Given the description of an element on the screen output the (x, y) to click on. 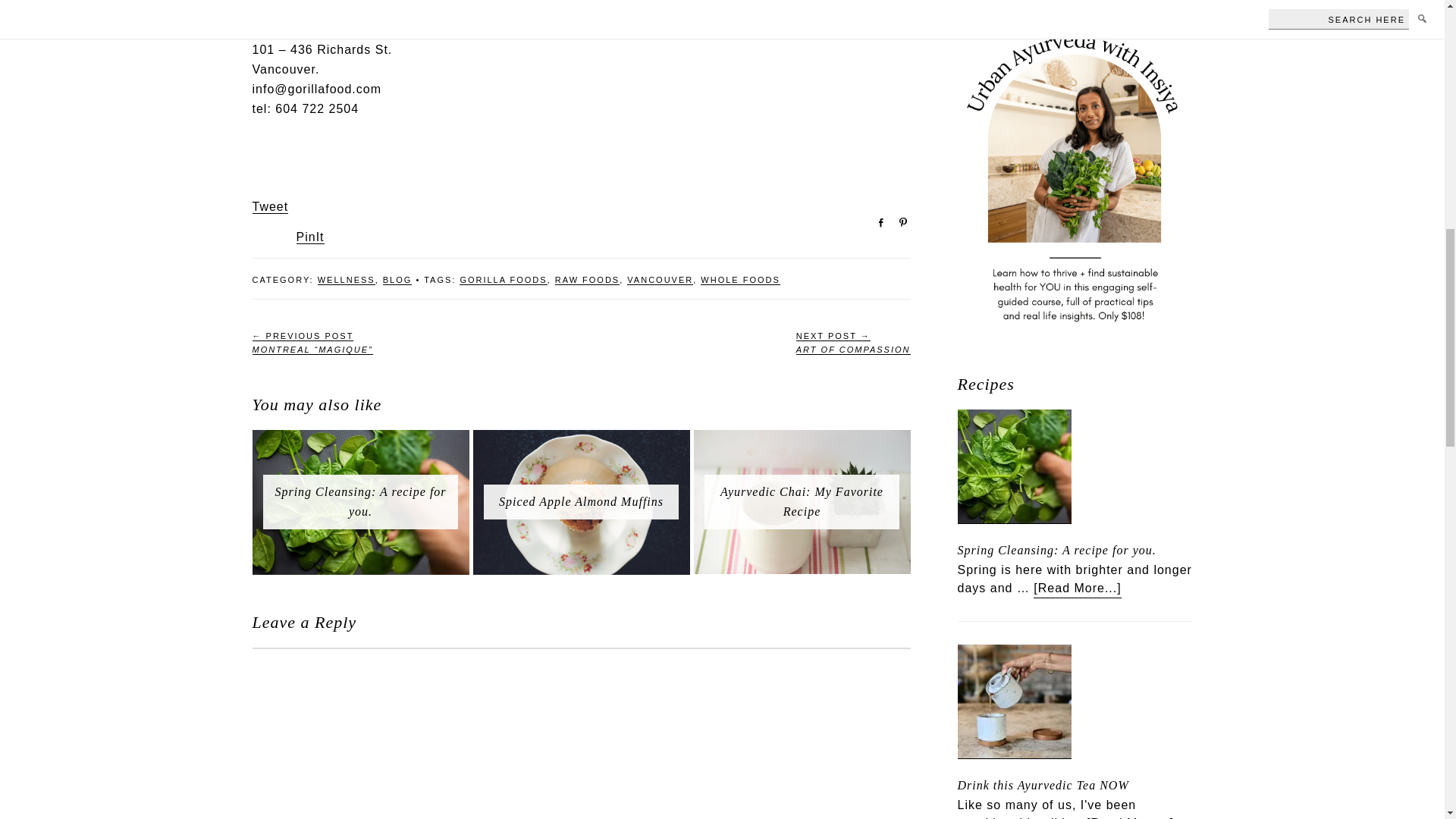
Permanent Link to Ayurvedic Chai: My Favorite Recipe (801, 501)
Share (874, 222)
Ayurvedic Chai: My Favorite Recipe (801, 439)
Gorilla Foods (295, 20)
Spiced Apple Almond Muffins (581, 439)
Permanent Link to Spring Cleansing: A recipe for you. (360, 501)
Permanent Link to Spiced Apple Almond Muffins (581, 501)
Spring Cleansing: A recipe for you. (359, 439)
